Given the description of an element on the screen output the (x, y) to click on. 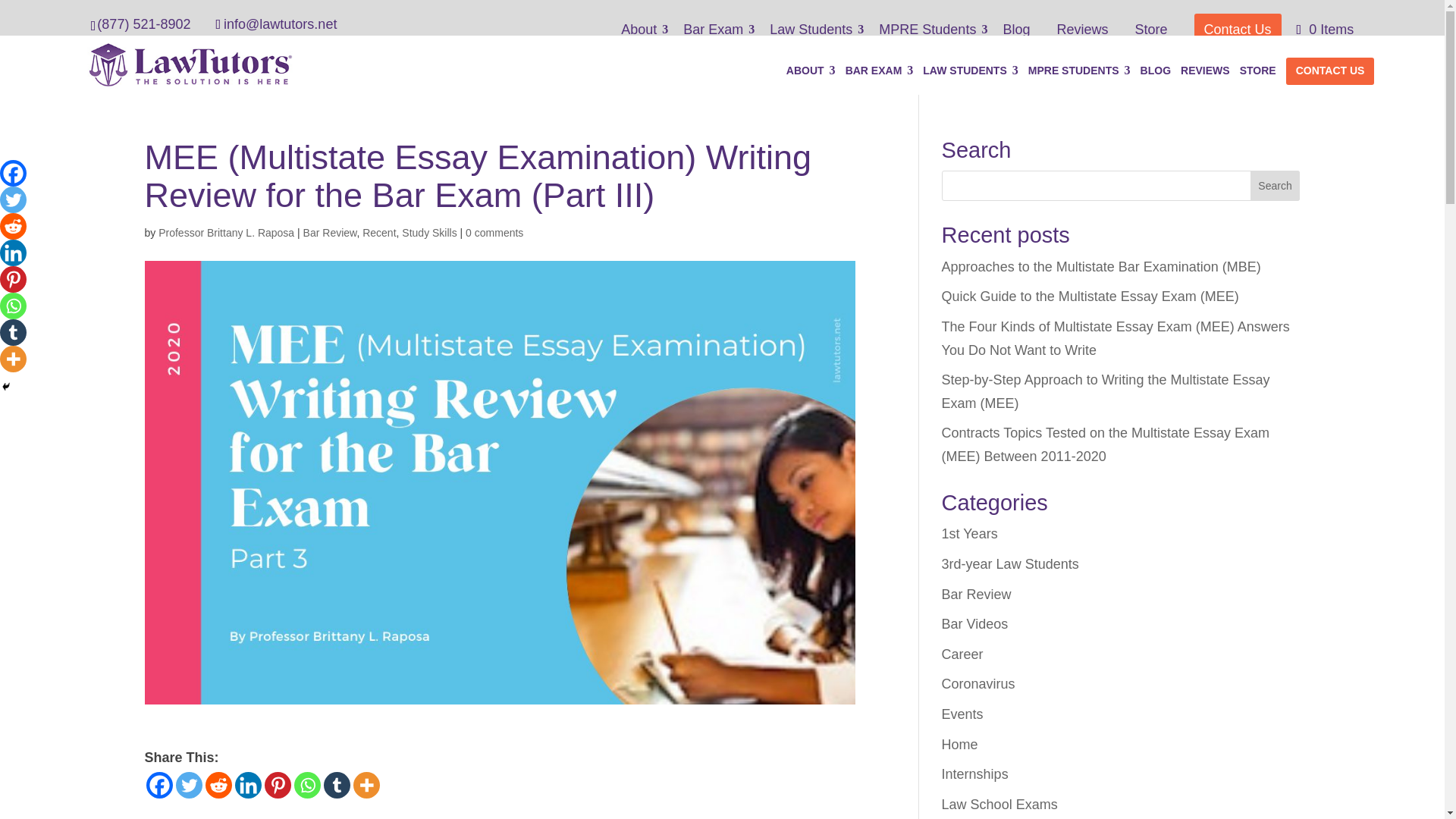
Reviews (1088, 34)
Contact Us (1237, 29)
Contact Law Tutors (1237, 29)
0 Items (1328, 28)
About Law Tutors (810, 80)
LAW STUDENTS (970, 80)
About (644, 34)
Contact Law Tutors (1329, 71)
ABOUT (810, 80)
MPRE STUDENTS (1079, 80)
BAR EXAM (879, 80)
Law Students (816, 34)
Blog (1022, 34)
Bar Exam (718, 34)
About Law Tutors (644, 34)
